Given the description of an element on the screen output the (x, y) to click on. 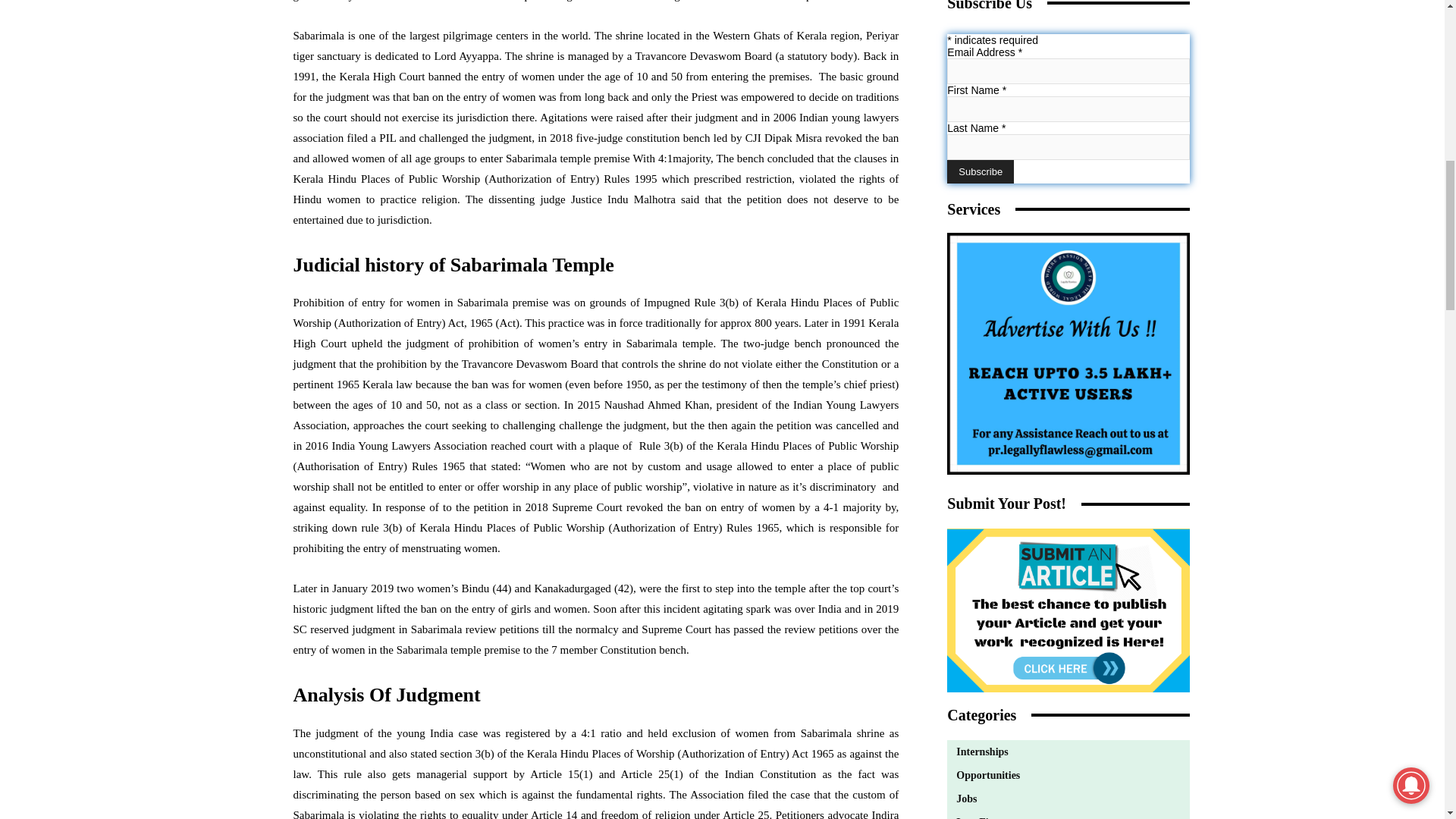
Subscribe (980, 171)
